Given the description of an element on the screen output the (x, y) to click on. 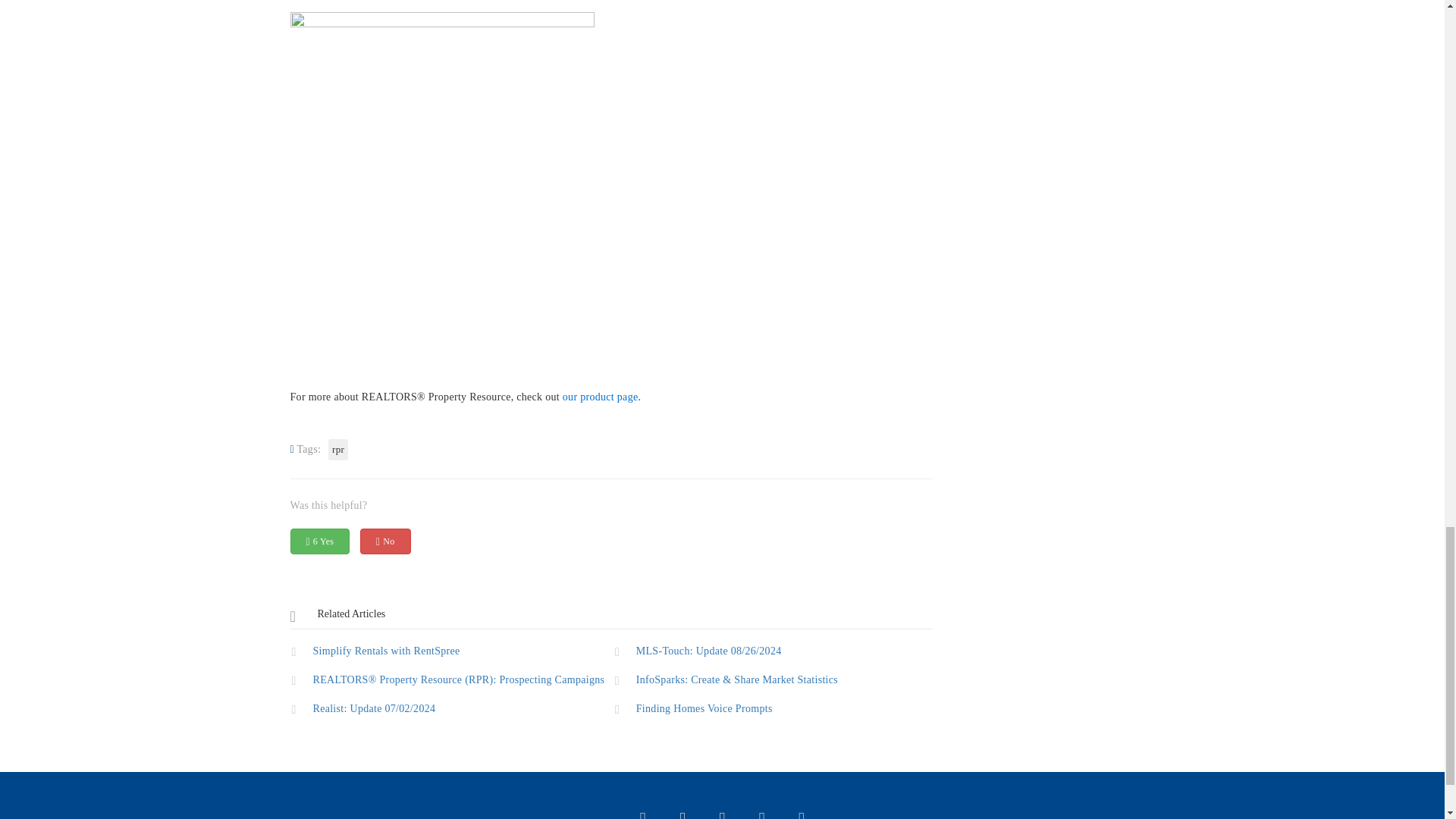
YouTube (722, 816)
Instagram (761, 816)
Finding Homes Voice Prompts (772, 707)
No (384, 540)
Linkedin (802, 816)
our product page (600, 396)
6 Yes (319, 540)
Simplify Rentals with RentSpree (448, 650)
Facebook (682, 816)
Twitter (643, 816)
